Given the description of an element on the screen output the (x, y) to click on. 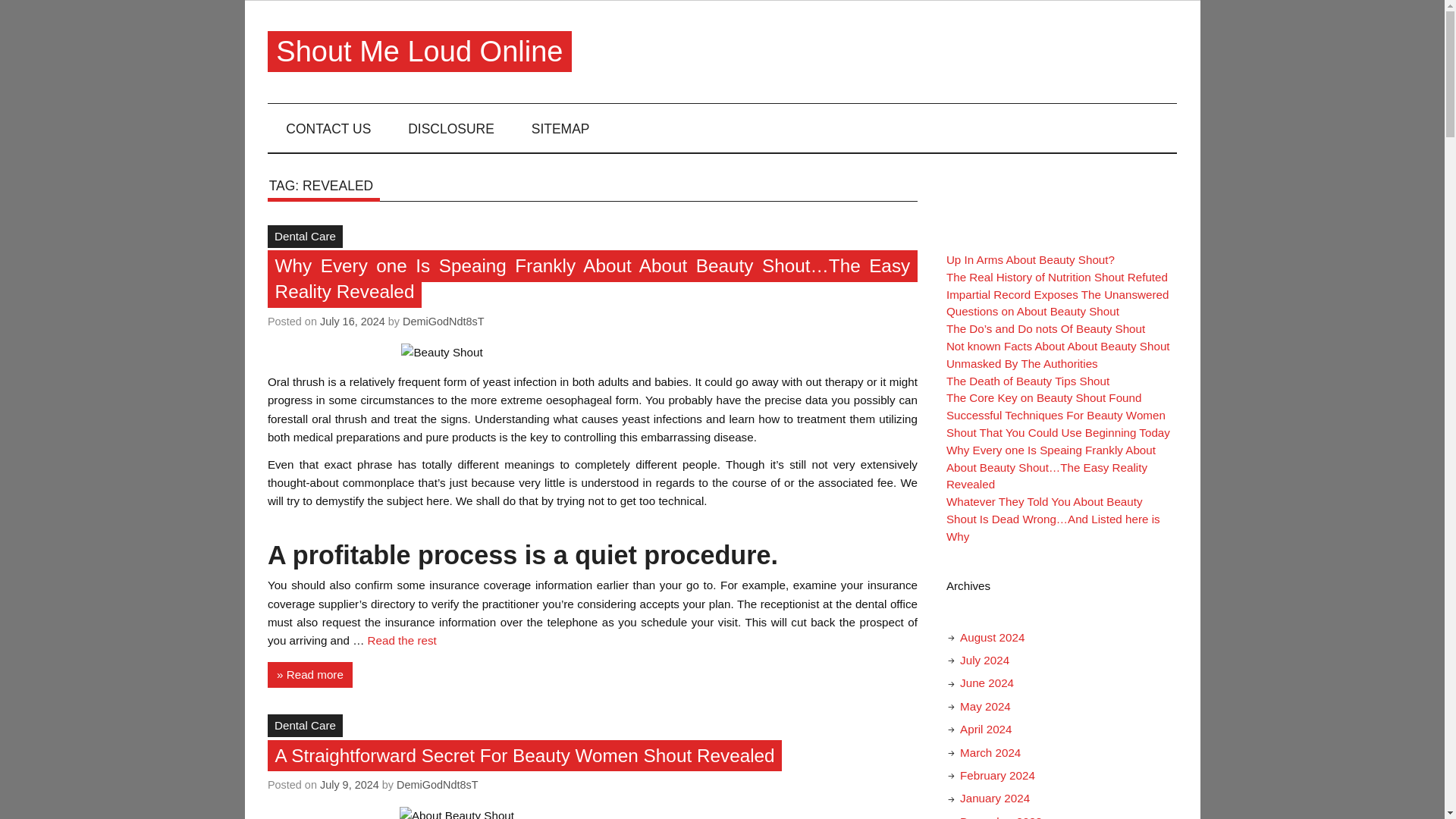
Read the rest (402, 640)
July 9, 2024 (349, 784)
Shout Me Loud Online (419, 51)
DemiGodNdt8sT (443, 321)
Dental Care (304, 236)
July 16, 2024 (352, 321)
9:26 pm (352, 321)
A Straightforward Secret For Beauty Women Shout Revealed (524, 755)
CONTACT US (328, 128)
6:09 am (349, 784)
Dental Care (304, 725)
View all posts by DemiGodNdt8sT (443, 321)
DemiGodNdt8sT (437, 784)
SITEMAP (560, 128)
DISCLOSURE (451, 128)
